Given the description of an element on the screen output the (x, y) to click on. 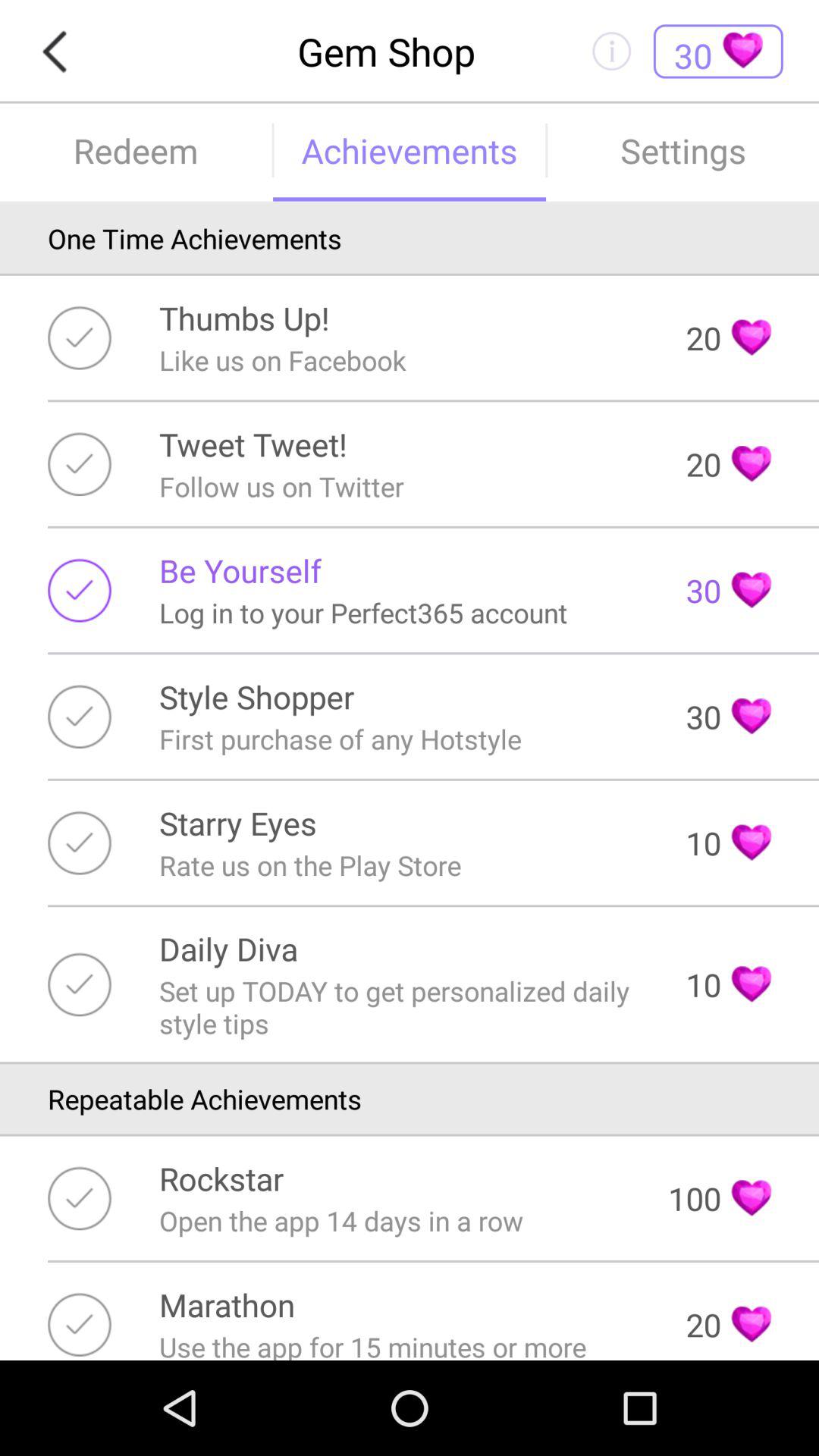
press the icon next to 20 item (252, 443)
